Given the description of an element on the screen output the (x, y) to click on. 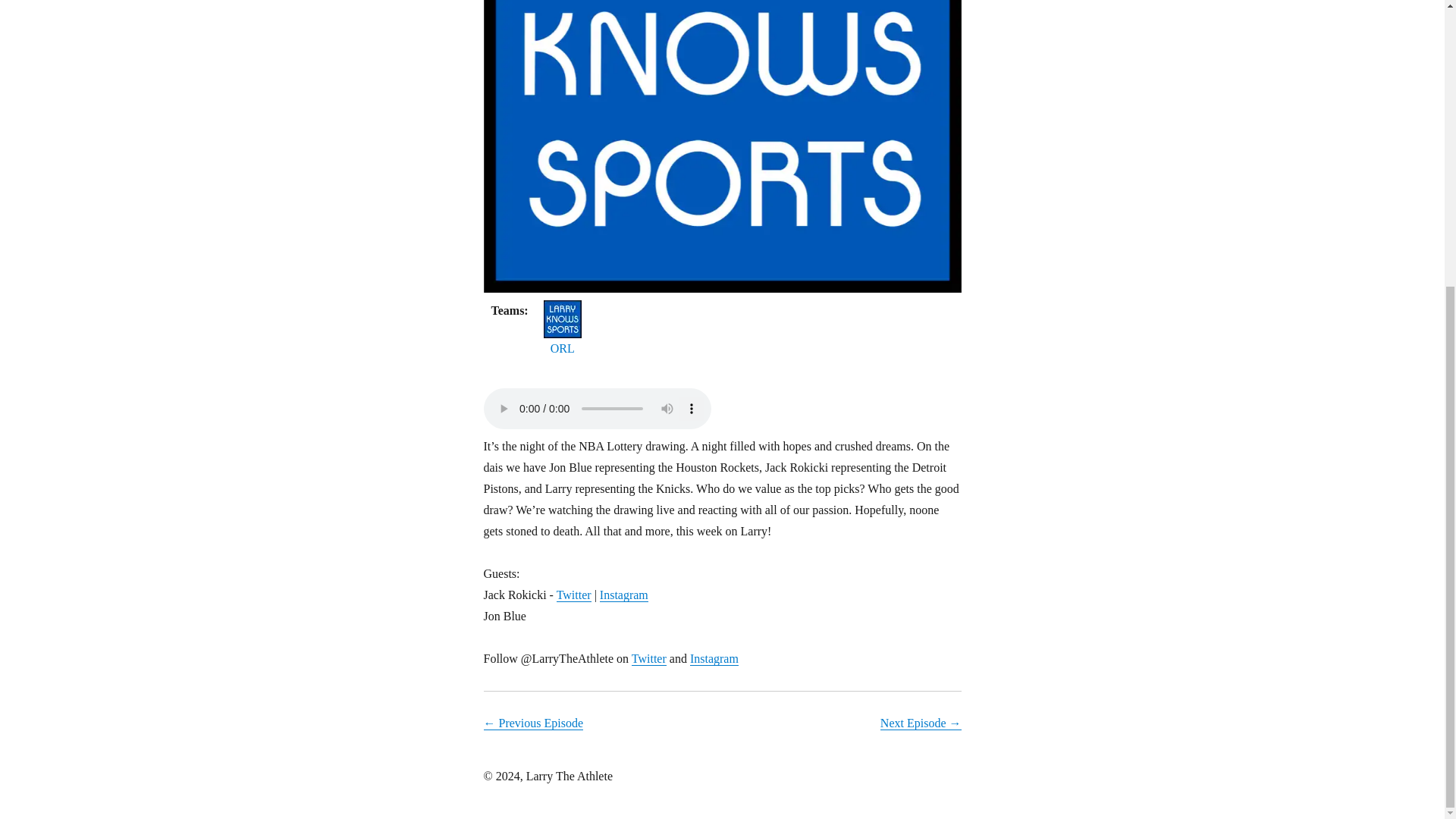
Twitter (648, 658)
Instagram (714, 658)
Orlando Magic (561, 309)
Twitter (573, 594)
Orlando Magic (561, 348)
Instagram (623, 594)
Podcast Audio (597, 408)
ORL (561, 348)
